Given the description of an element on the screen output the (x, y) to click on. 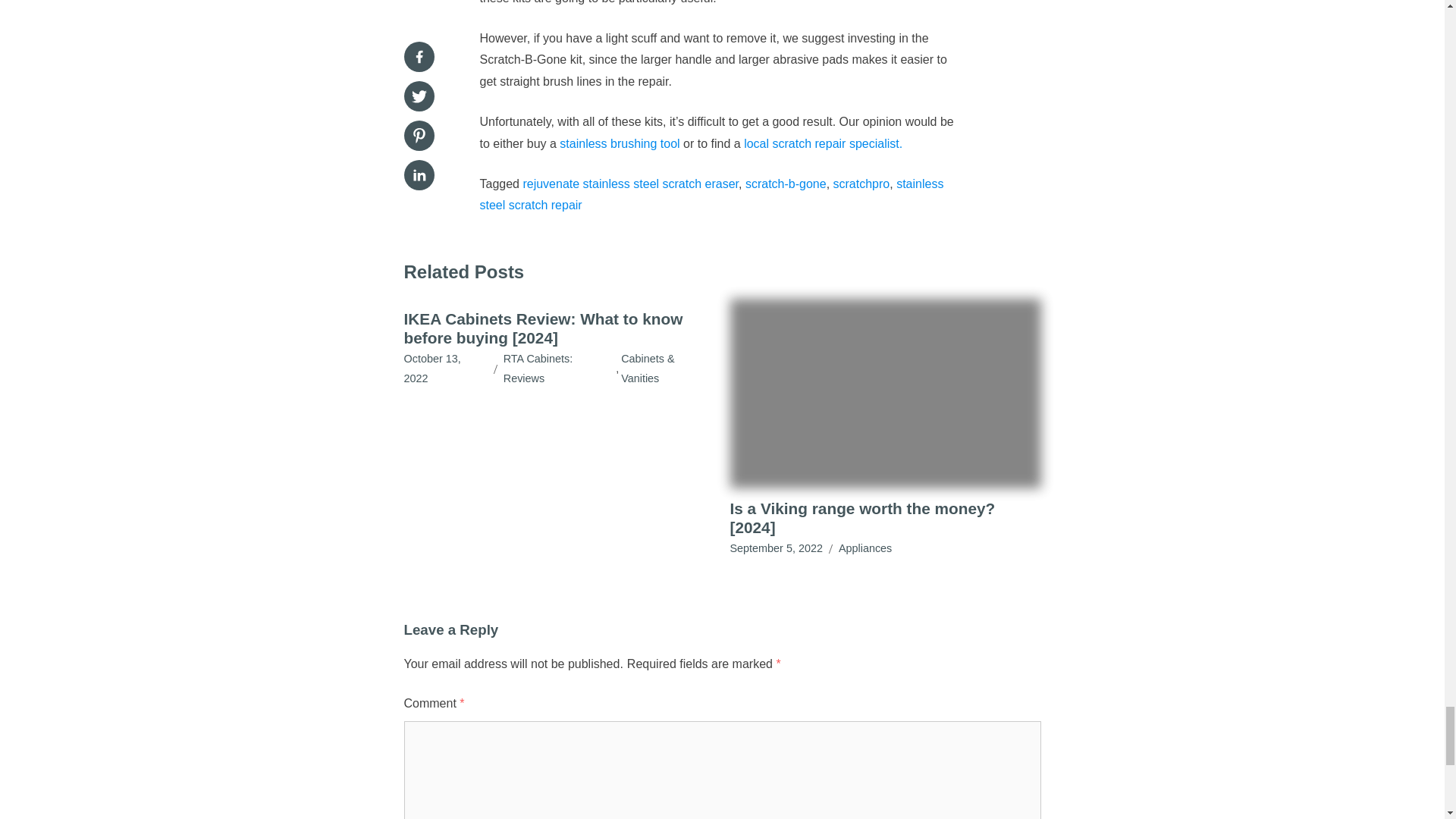
RTA Cabinets: Reviews (559, 369)
October 13, 2022 (444, 369)
rejuvenate stainless steel scratch eraser (630, 183)
scratchpro (860, 183)
stainless brushing tool (620, 143)
local scratch repair specialist. (823, 143)
stainless steel scratch repair (711, 194)
scratch-b-gone (786, 183)
